Given the description of an element on the screen output the (x, y) to click on. 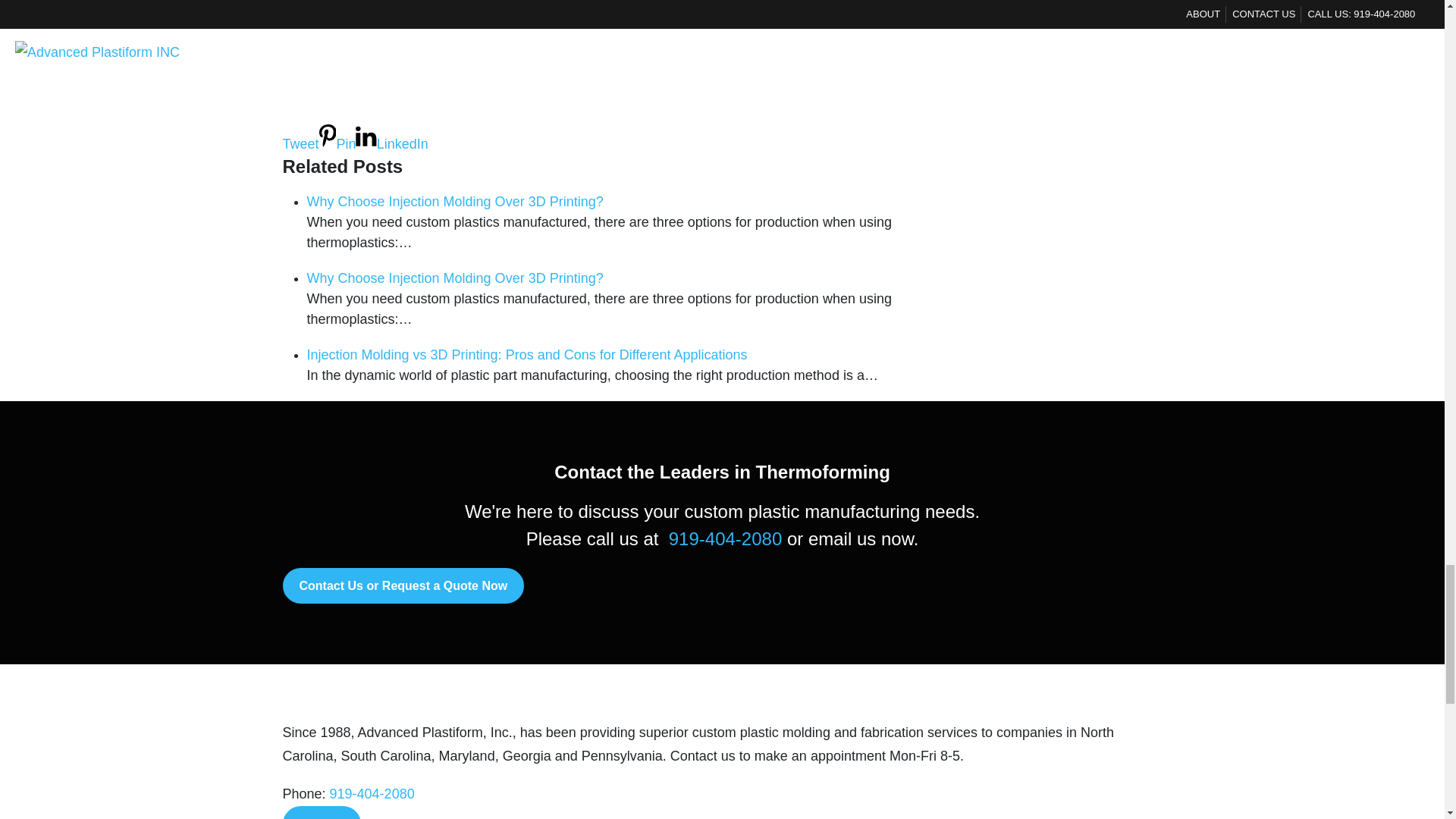
Share on Pinterest (337, 143)
Share on Twitter (608, 128)
Share on LinkedIn (391, 143)
